Given the description of an element on the screen output the (x, y) to click on. 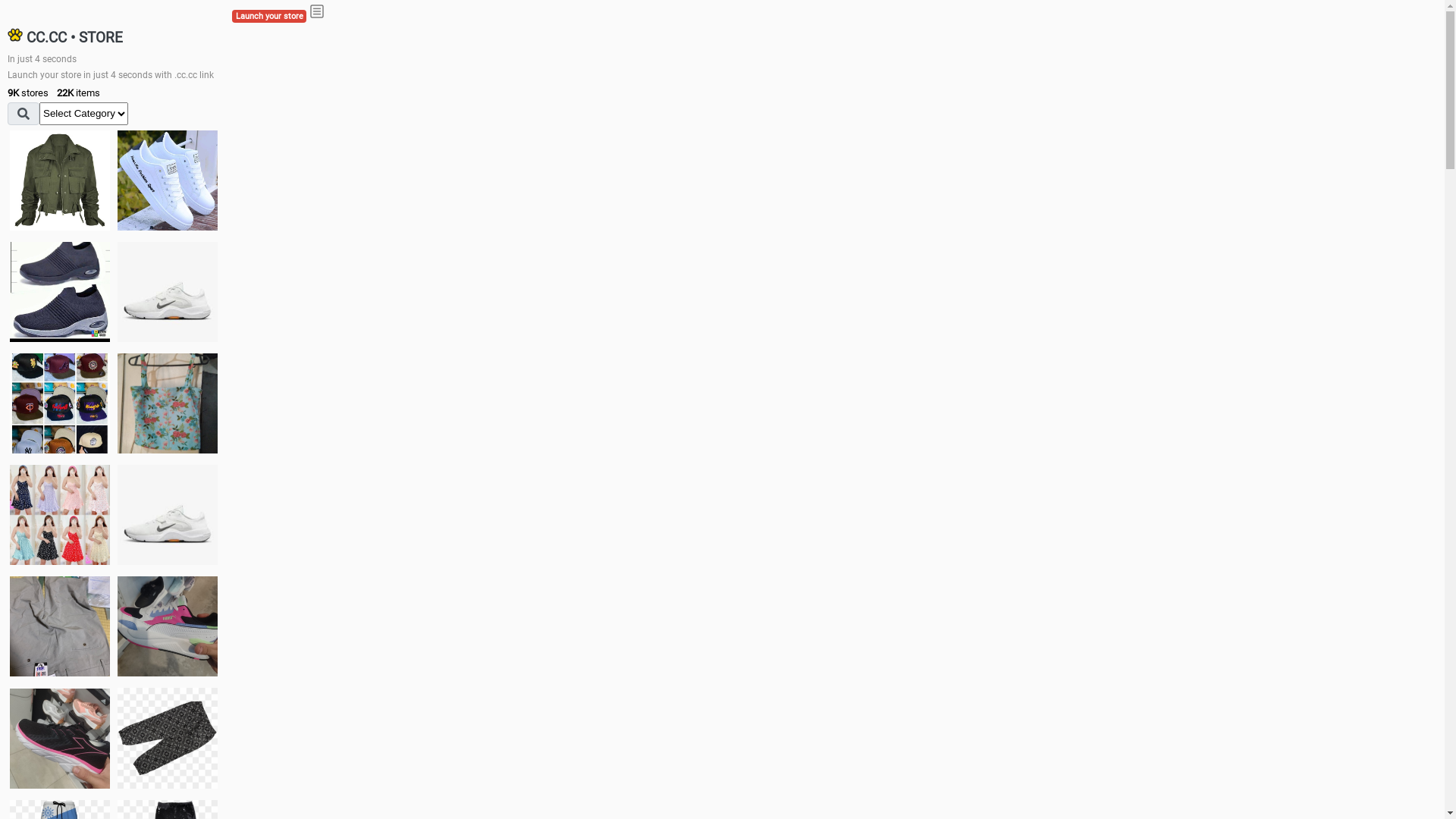
Zapatillas pumas Element type: hover (167, 626)
Launch your store Element type: text (269, 15)
Ukay cloth Element type: hover (167, 403)
jacket Element type: hover (59, 180)
Dress/square nect top Element type: hover (59, 514)
Shoes for boys Element type: hover (167, 291)
Zapatillas Element type: hover (59, 738)
Things we need Element type: hover (59, 403)
Shoes Element type: hover (167, 514)
white shoes Element type: hover (167, 180)
Short pant Element type: hover (167, 737)
shoes for boys Element type: hover (59, 291)
